Given the description of an element on the screen output the (x, y) to click on. 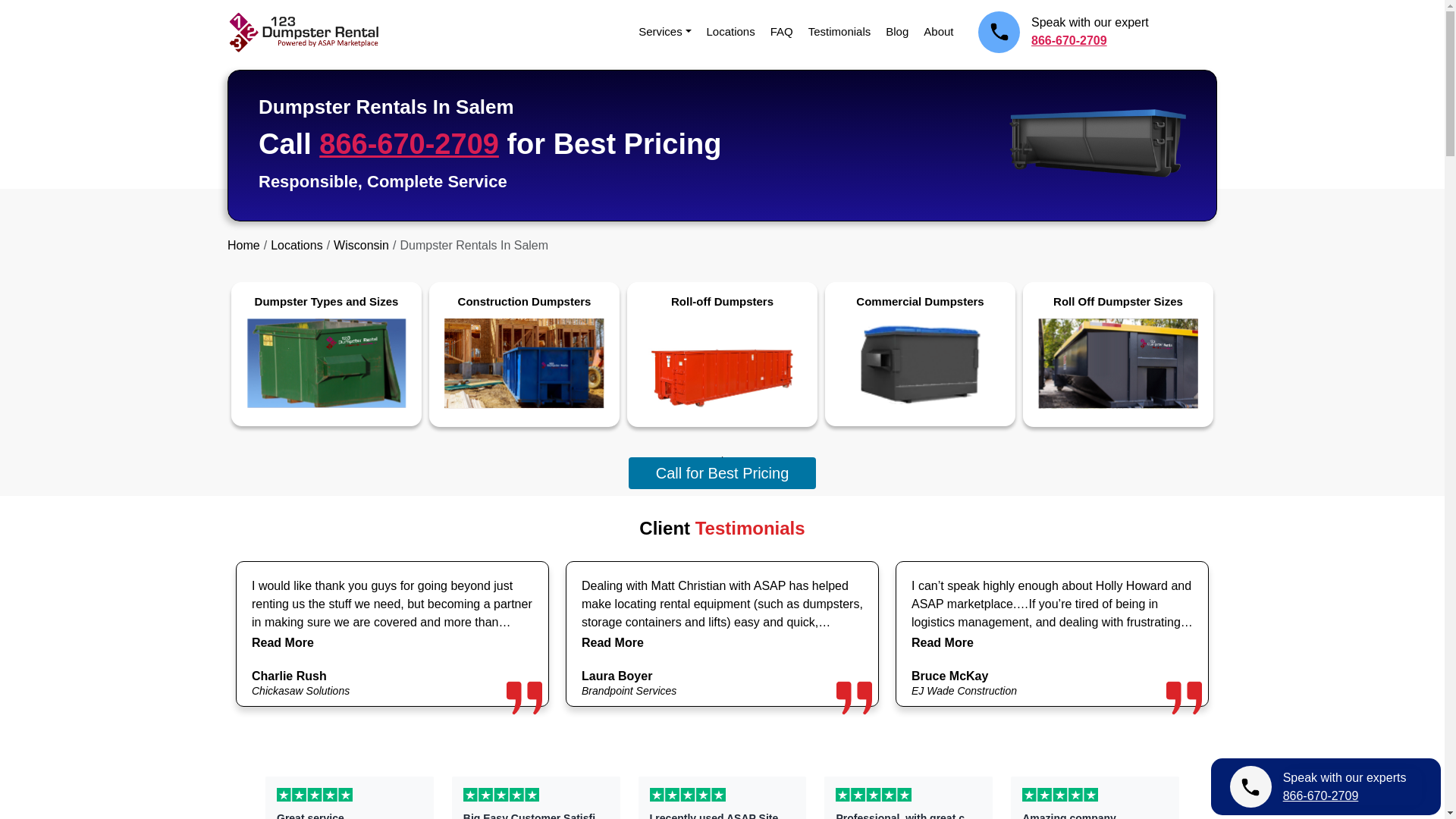
Locations (730, 31)
Read More (942, 642)
Read More (282, 642)
Call for Best Pricing (722, 472)
Construction Dumpsters (524, 350)
About (938, 31)
Wisconsin (360, 245)
Home (243, 245)
Customer reviews powered by Trustpilot (722, 794)
Roll-off Dumpsters (722, 350)
Blog (896, 31)
1 (721, 457)
Dumpster Types and Sizes (326, 350)
866-670-2709 (408, 143)
Commercial Dumpsters (920, 350)
